Given the description of an element on the screen output the (x, y) to click on. 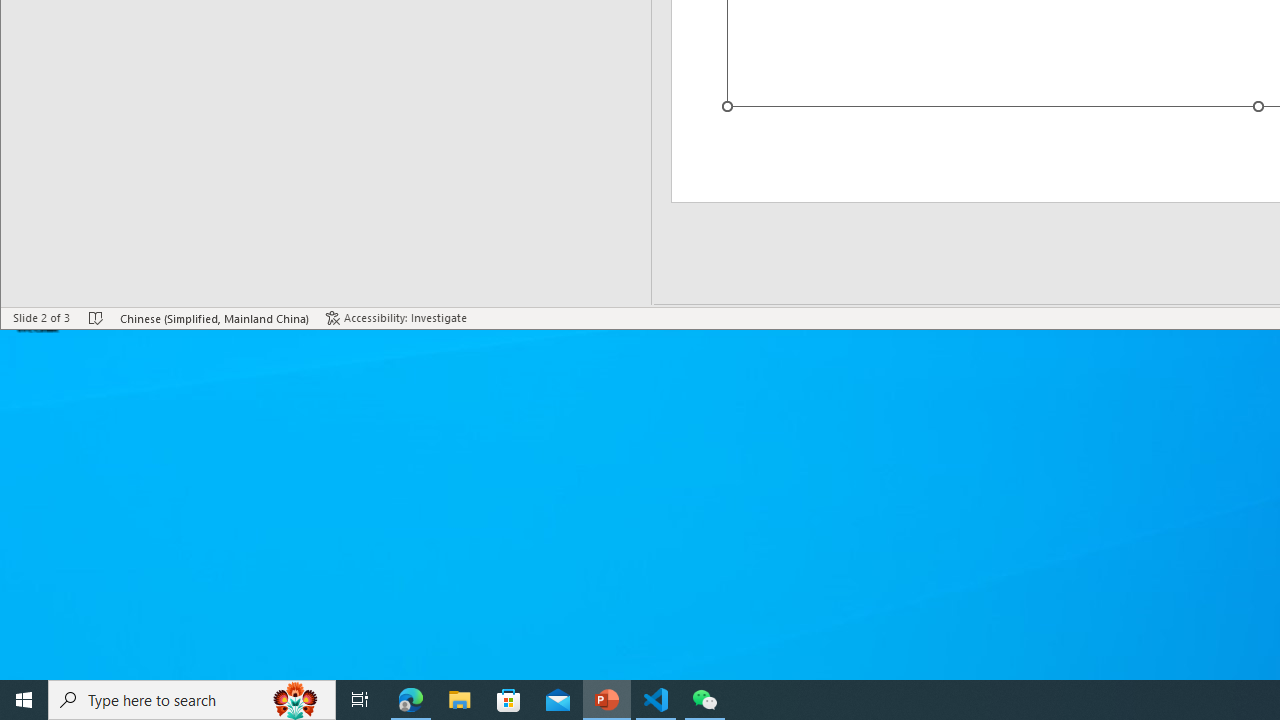
Microsoft Edge - 1 running window (411, 699)
WeChat - 1 running window (704, 699)
